Given the description of an element on the screen output the (x, y) to click on. 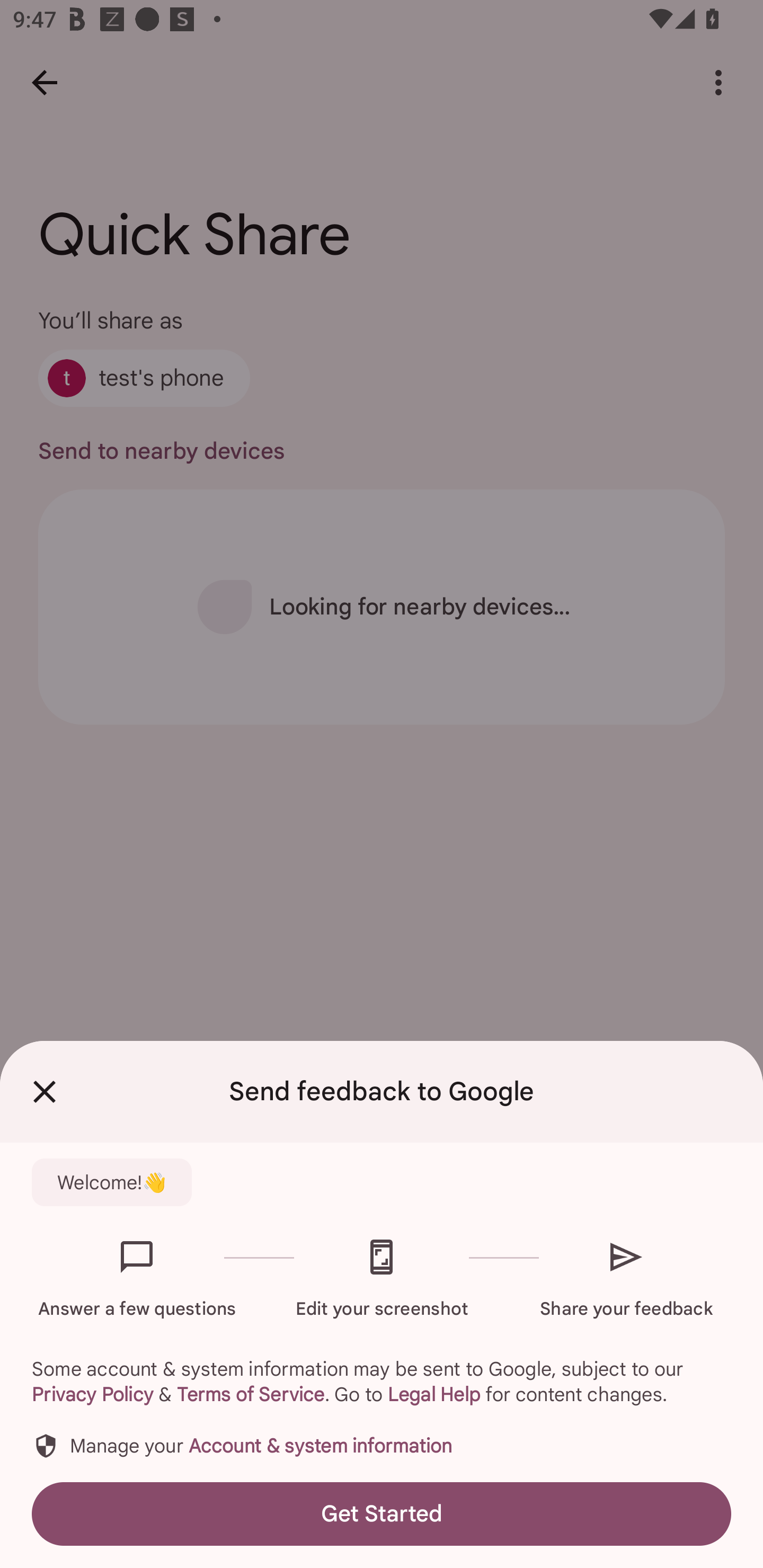
Close Feedback (44, 1091)
Get Started (381, 1513)
